Given the description of an element on the screen output the (x, y) to click on. 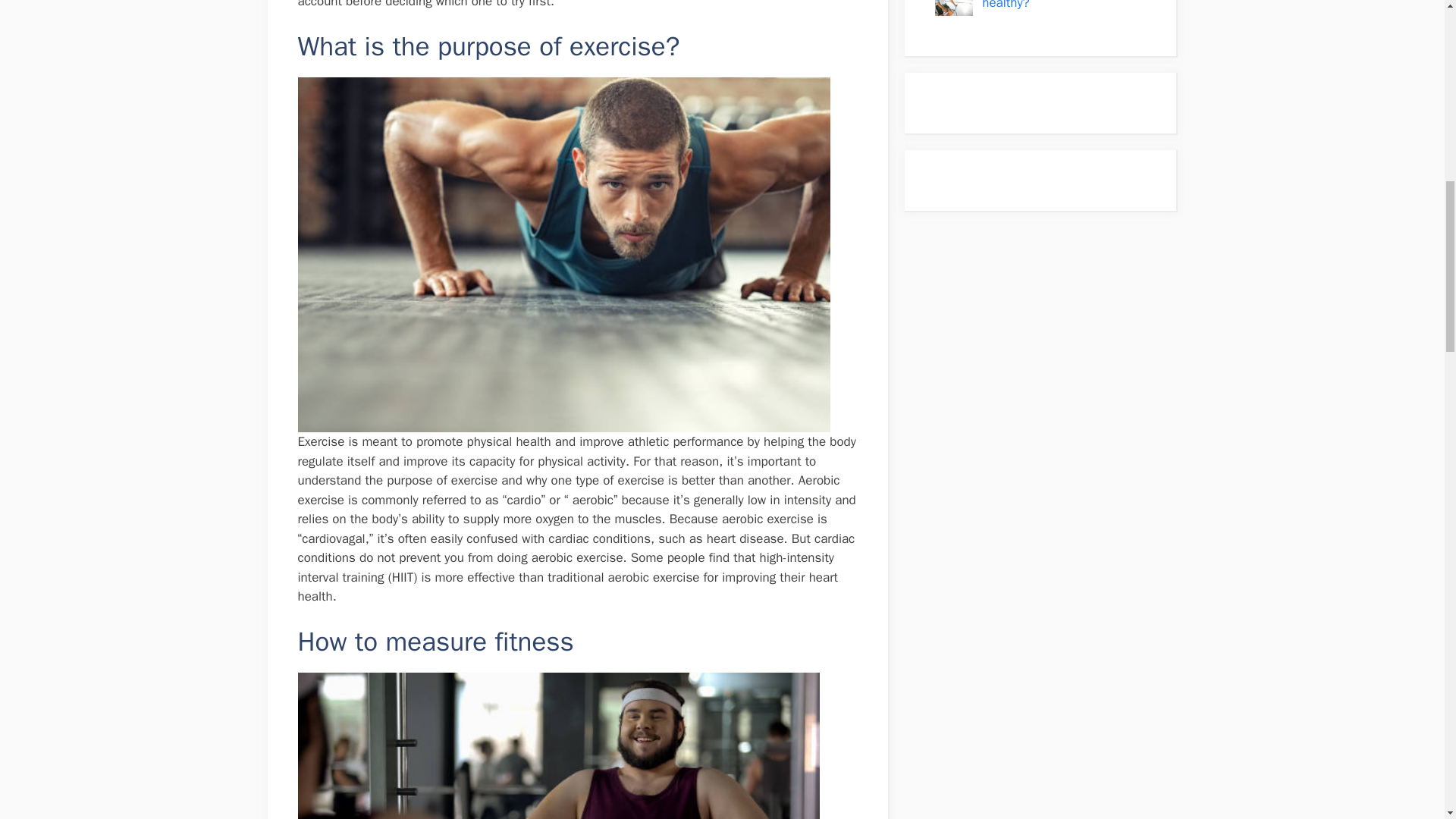
How much cycling is healthy? (1037, 5)
